Given the description of an element on the screen output the (x, y) to click on. 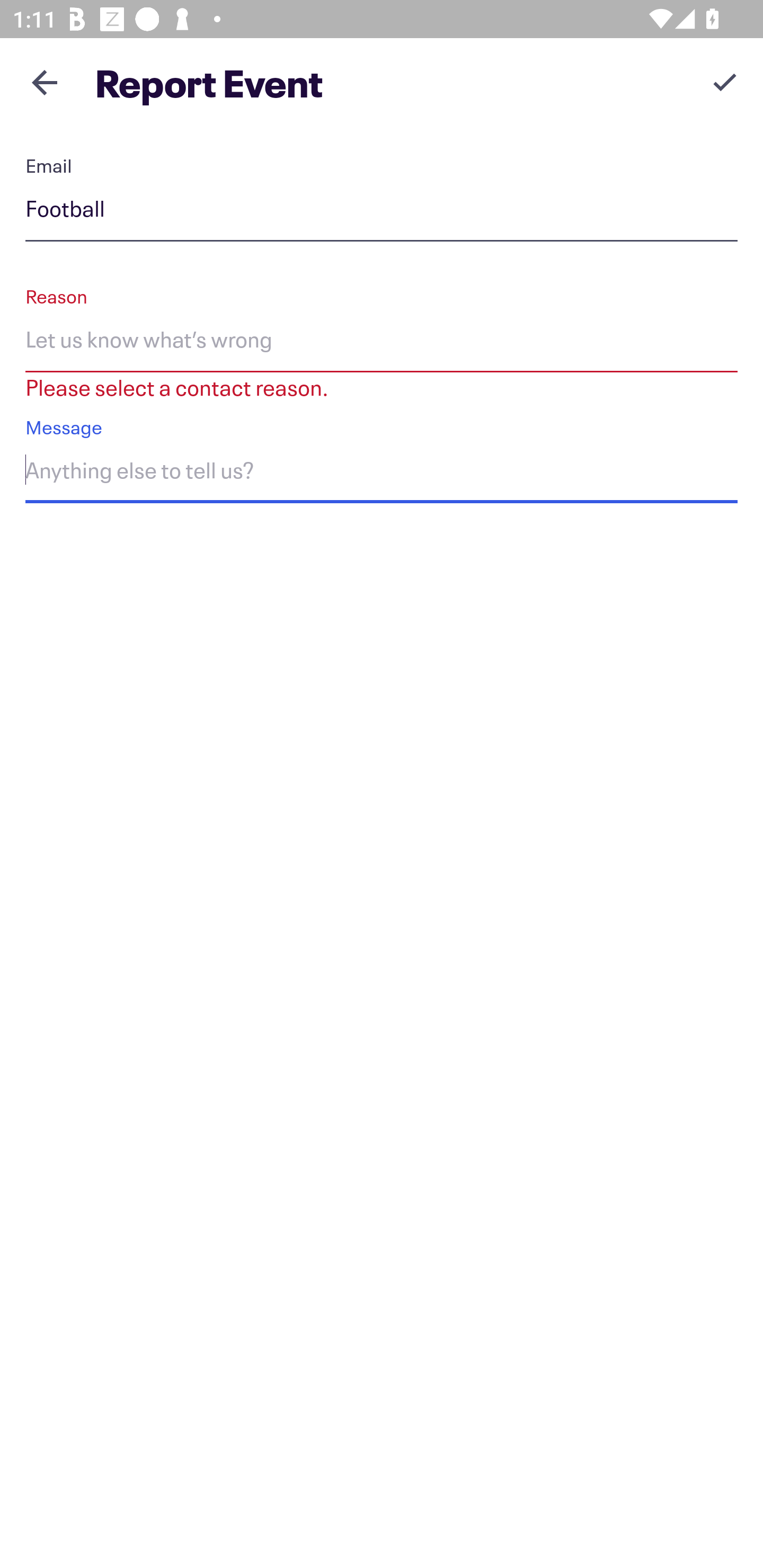
Navigate up (44, 82)
Save (724, 81)
Football (381, 211)
Let us know what’s wrong (381, 342)
Anything else to tell us? (381, 473)
